Given the description of an element on the screen output the (x, y) to click on. 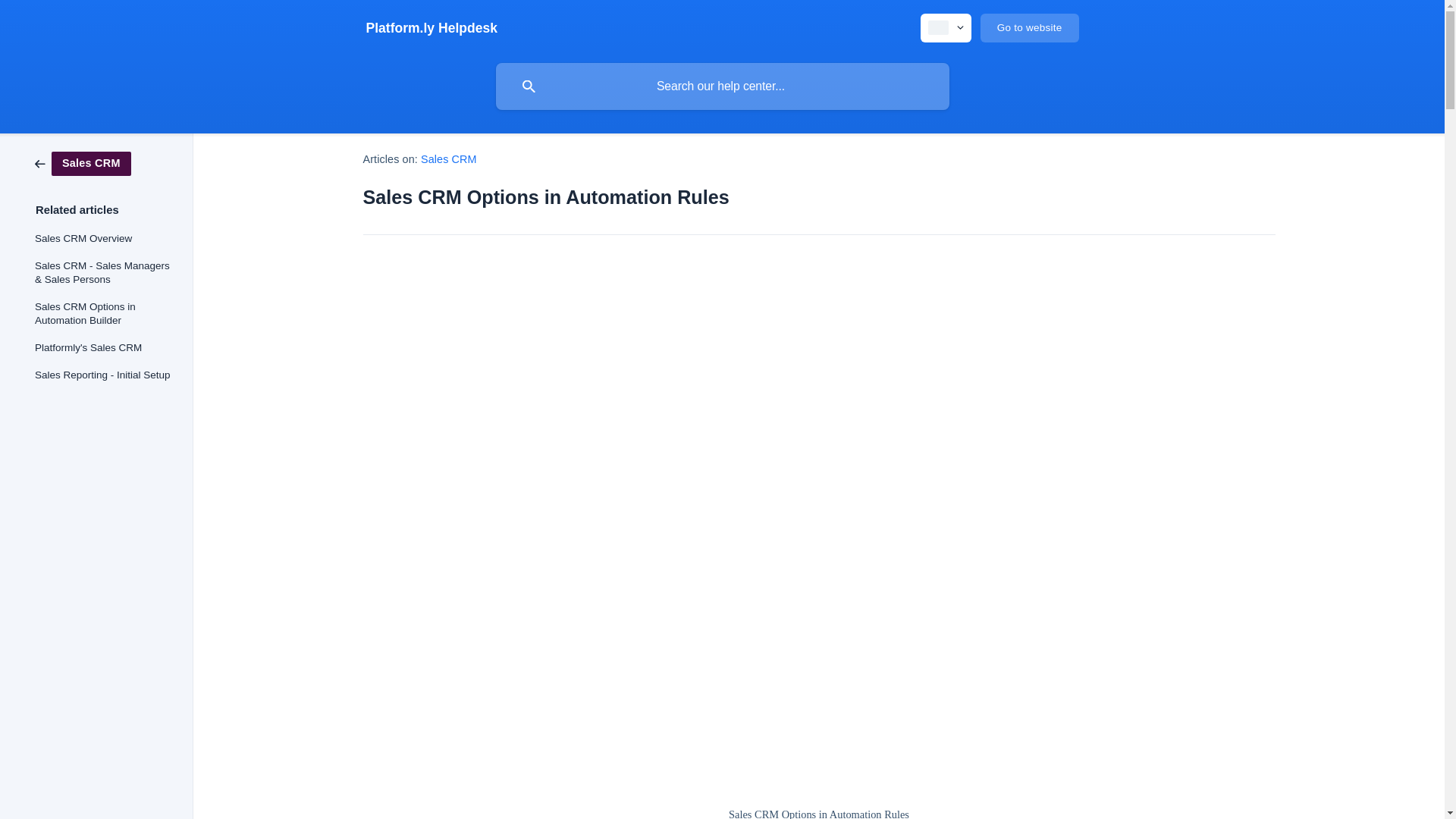
Platform.ly Helpdesk (430, 27)
Sales CRM Options in Automation Builder (102, 313)
Sales Reporting - Initial Setup (102, 375)
Platformly's Sales CRM (102, 347)
Go to website (1028, 27)
Sales CRM (448, 159)
Sales CRM (82, 162)
Sales CRM Overview (102, 238)
